Given the description of an element on the screen output the (x, y) to click on. 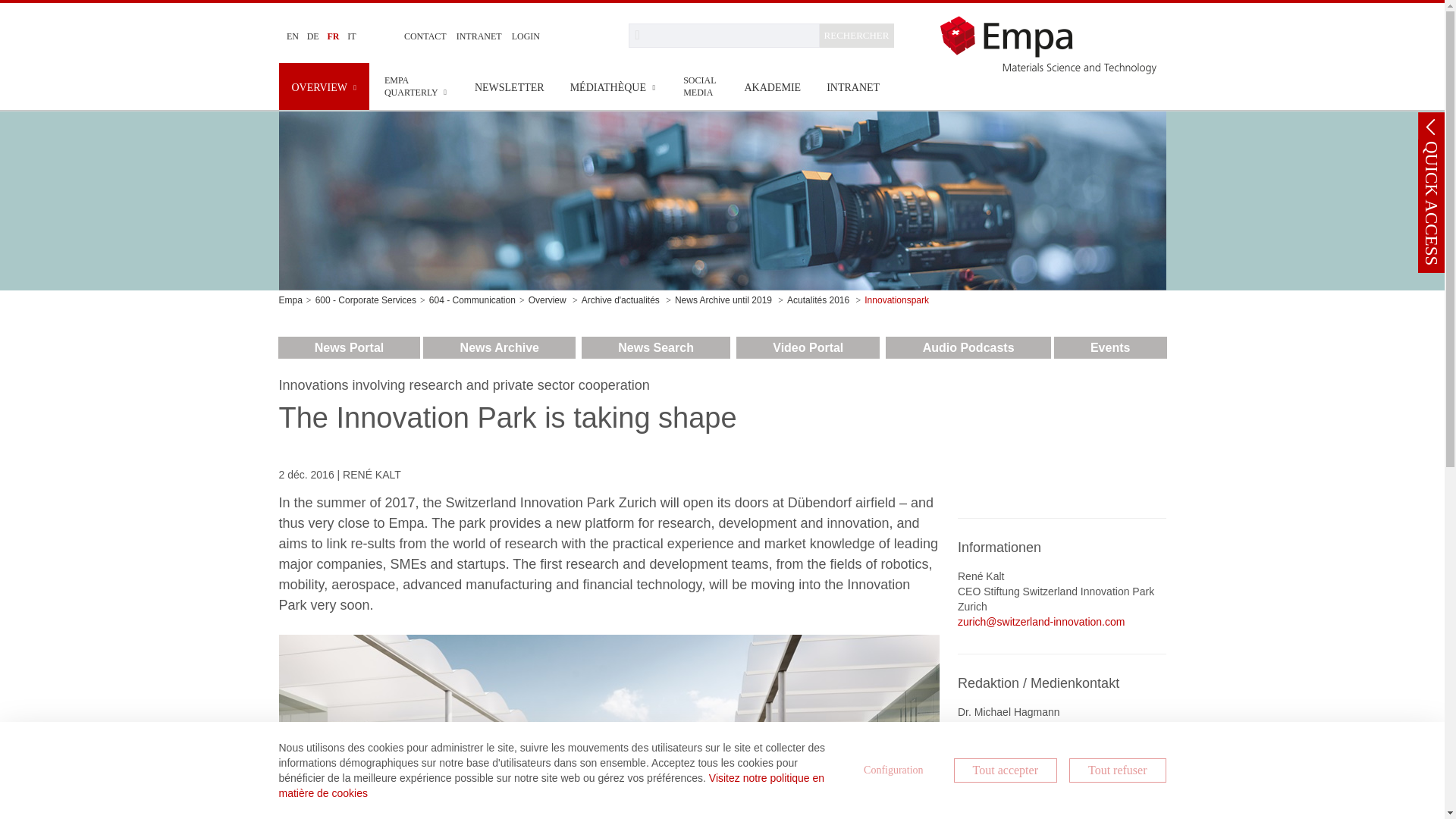
Audio Podcasts (967, 347)
News Portal (349, 347)
Video Portal (807, 347)
Go to Empa (1052, 44)
News Archive (499, 347)
Saut au contenu principal (5, 5)
News Search (655, 347)
Rechercher (723, 35)
